Given the description of an element on the screen output the (x, y) to click on. 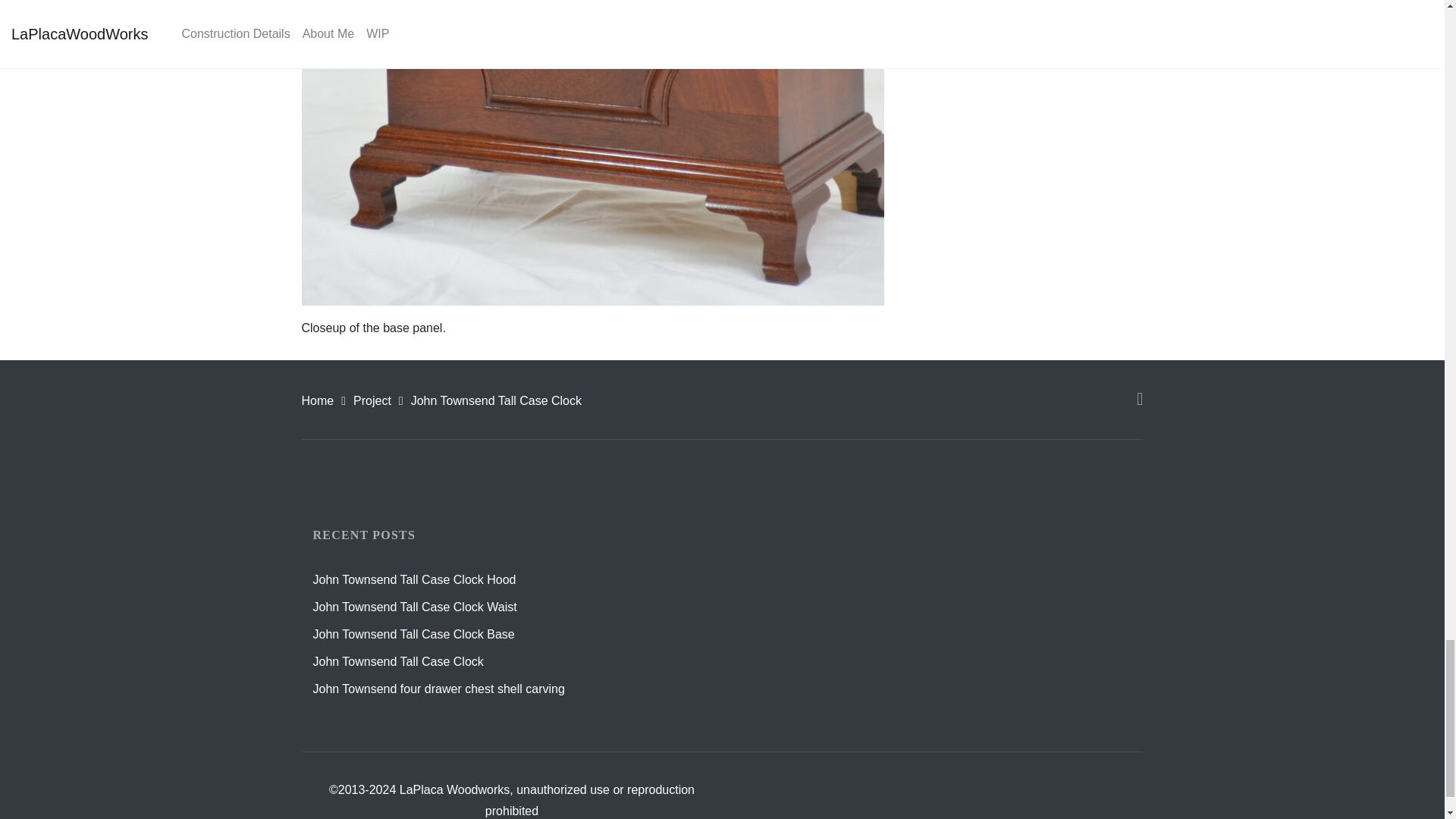
Home (317, 400)
John Townsend Tall Case Clock Hood (414, 579)
John Townsend Tall Case Clock Waist (414, 606)
John Townsend Tall Case Clock (398, 661)
John Townsend Tall Case Clock Base (413, 634)
John Townsend four drawer chest shell carving (438, 688)
Project (372, 400)
